Given the description of an element on the screen output the (x, y) to click on. 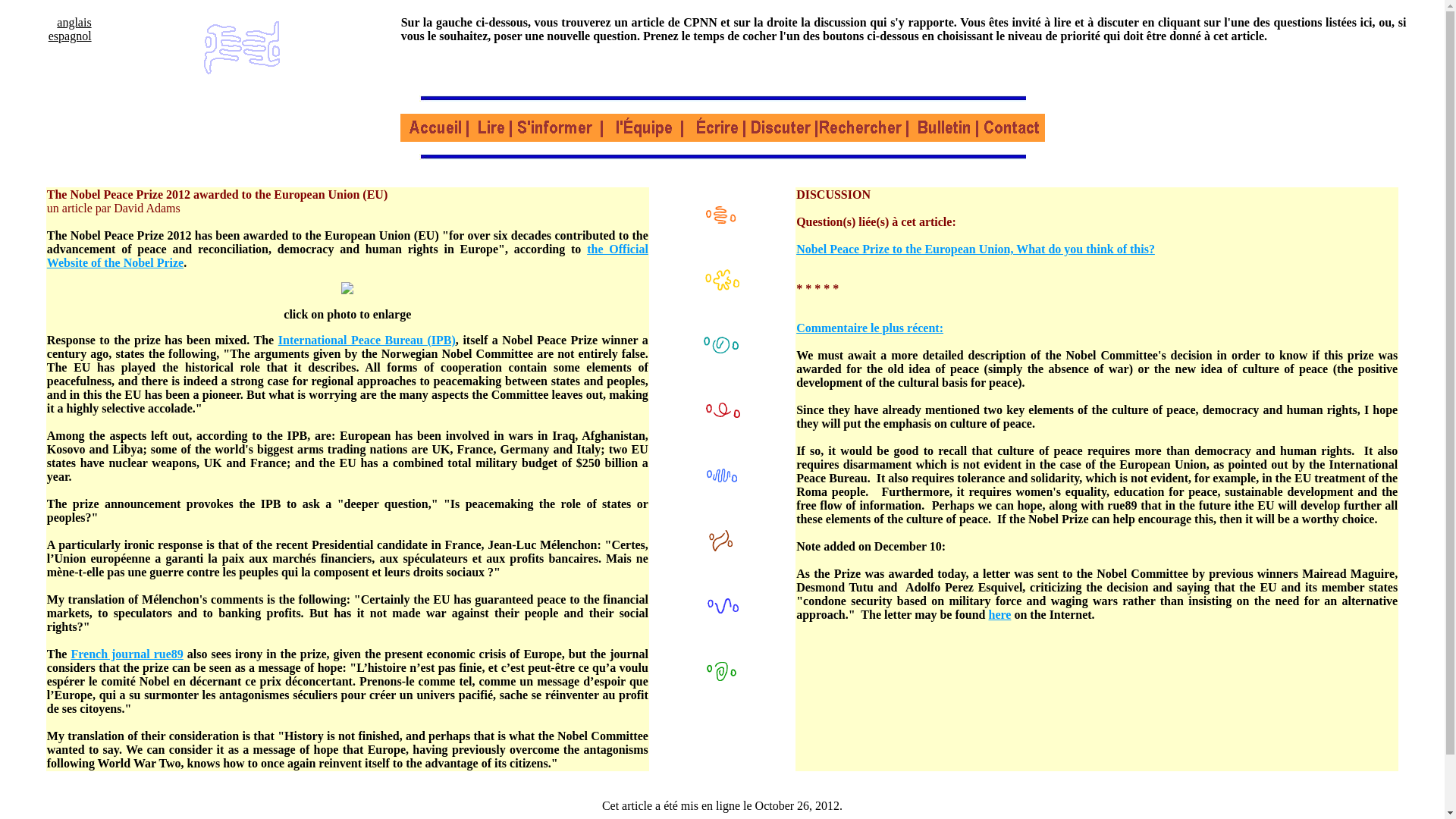
the Official Website of the Nobel Prize (346, 255)
here (999, 614)
espagnol (69, 35)
French journal rue89 (126, 653)
anglais (73, 21)
